Given the description of an element on the screen output the (x, y) to click on. 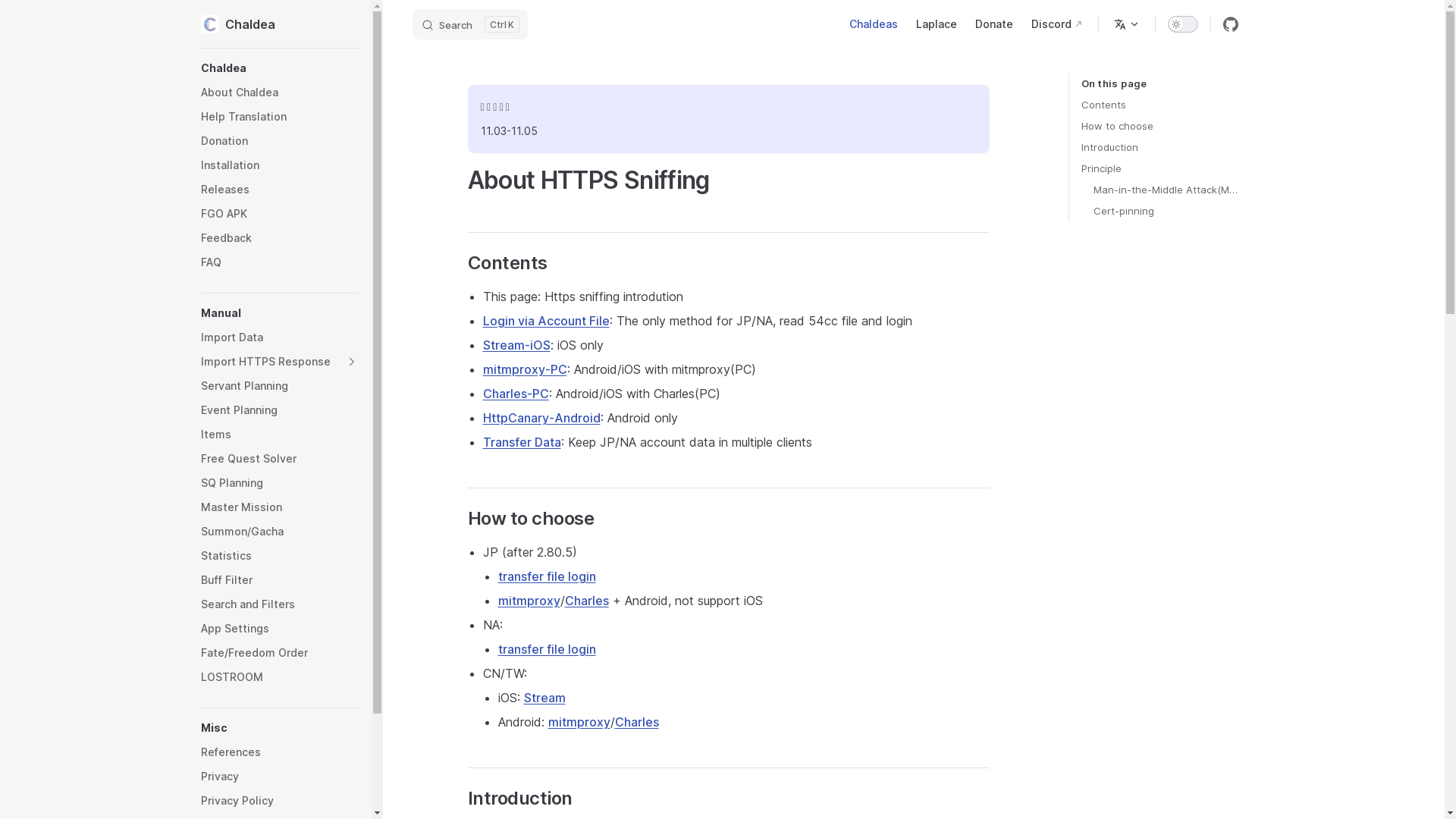
Principle Element type: text (1159, 167)
Search
K Element type: text (469, 24)
Charles Element type: text (636, 721)
References Element type: text (278, 752)
Laplace Element type: text (936, 24)
Help Translation Element type: text (278, 116)
LOSTROOM Element type: text (278, 677)
Statistics Element type: text (278, 555)
Free Quest Solver Element type: text (278, 458)
Introduction Element type: text (1159, 146)
Donation Element type: text (278, 140)
mitmproxy-PC Element type: text (524, 368)
Skip to content Element type: text (24, 16)
Summon/Gacha Element type: text (278, 531)
Login via Account File Element type: text (545, 320)
Man-in-the-Middle Attack(MITM) Element type: text (1165, 189)
Servant Planning Element type: text (278, 385)
Fate/Freedom Order Element type: text (278, 652)
HttpCanary-Android Element type: text (540, 417)
Search and Filters Element type: text (278, 604)
mitmproxy Element type: text (578, 721)
Buff Filter Element type: text (278, 579)
mitmproxy Element type: text (528, 600)
Contents Element type: text (1159, 104)
transfer file login Element type: text (546, 575)
toggle dark mode Element type: hover (1182, 23)
Stream-iOS Element type: text (515, 344)
FGO APK Element type: text (278, 213)
Charles Element type: text (586, 600)
transfer file login Element type: text (546, 648)
SQ Planning Element type: text (278, 482)
Feedback Element type: text (278, 237)
Releases Element type: text (278, 189)
Items Element type: text (278, 434)
Privacy Element type: text (278, 776)
Master Mission Element type: text (278, 507)
About Chaldea Element type: text (278, 92)
FAQ Element type: text (278, 262)
Chaldeas Element type: text (873, 24)
Cert-pinning Element type: text (1165, 210)
Event Planning Element type: text (278, 410)
Privacy Policy Element type: text (278, 800)
App Settings Element type: text (278, 628)
Transfer Data Element type: text (521, 441)
Chaldea Element type: text (278, 24)
Import Data Element type: text (278, 337)
Stream Element type: text (543, 697)
Charles-PC Element type: text (515, 393)
Discord Element type: text (1057, 24)
Donate Element type: text (994, 24)
How to choose Element type: text (1159, 125)
Installation Element type: text (278, 165)
